Given the description of an element on the screen output the (x, y) to click on. 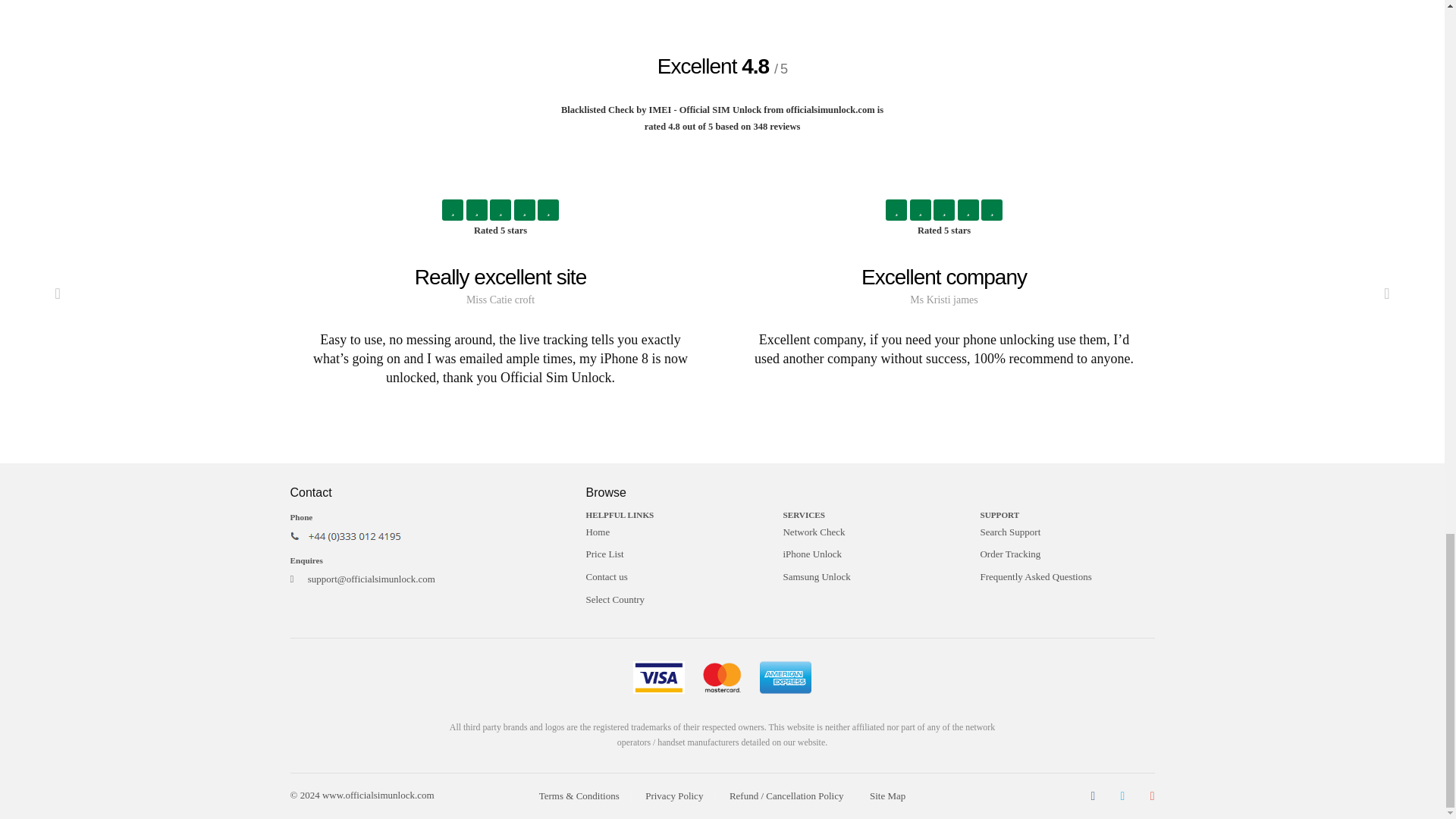
Unlock Samsung (869, 577)
Home (672, 532)
Select Country (672, 599)
Terms and Conditions (579, 795)
Privacy Policy (674, 795)
Frequently Asked Questions (1066, 577)
Price List (672, 554)
Home (672, 532)
Network Check (869, 532)
Order Tracking (1066, 554)
iPhone Unlock (869, 554)
Unlock iPhone (869, 554)
Network Check (869, 532)
Search Support (1066, 532)
Site Map (887, 795)
